Given the description of an element on the screen output the (x, y) to click on. 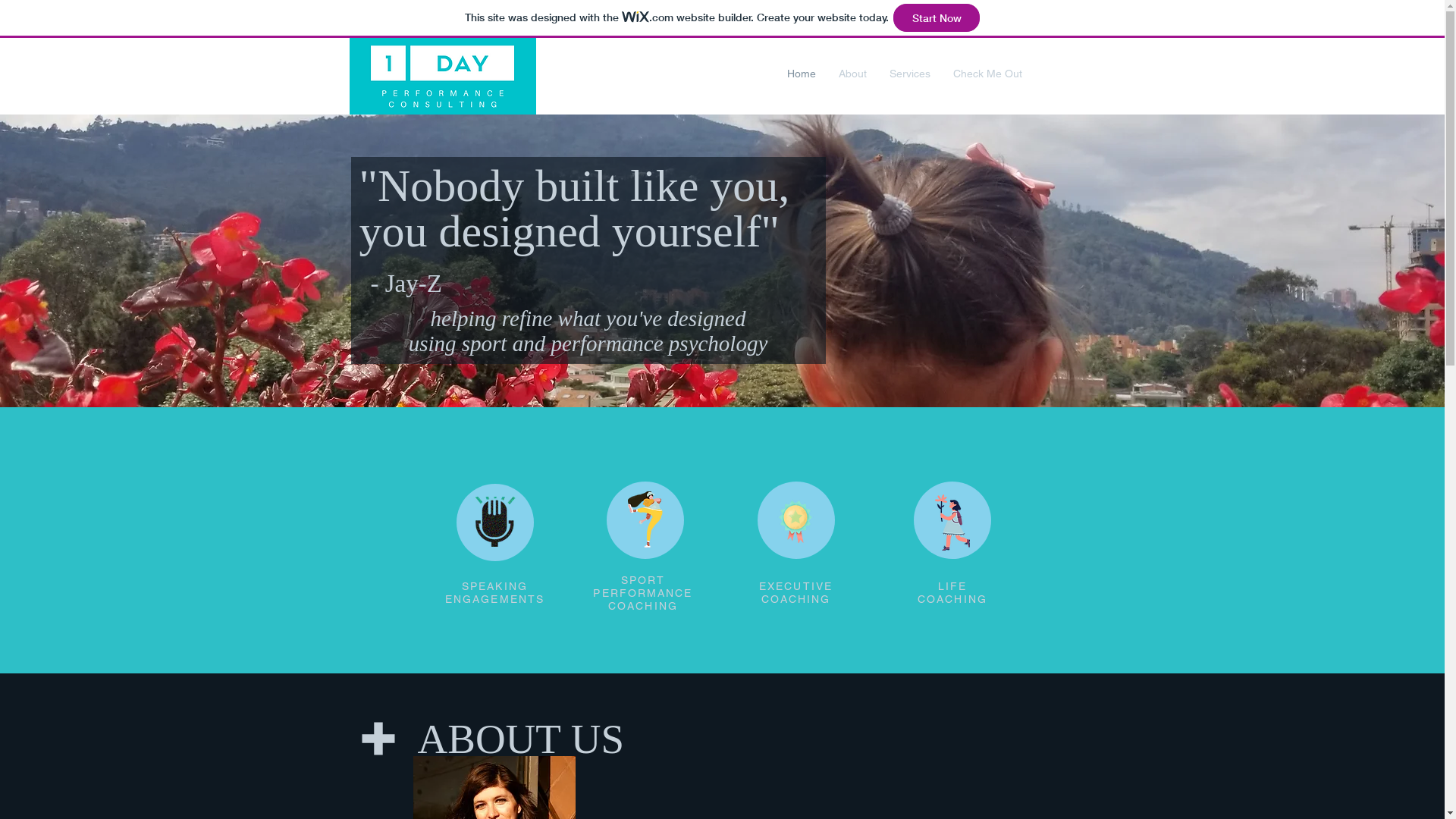
Home Element type: text (800, 73)
Check Me Out Element type: text (987, 73)
About Element type: text (851, 73)
Services Element type: text (909, 73)
